Given the description of an element on the screen output the (x, y) to click on. 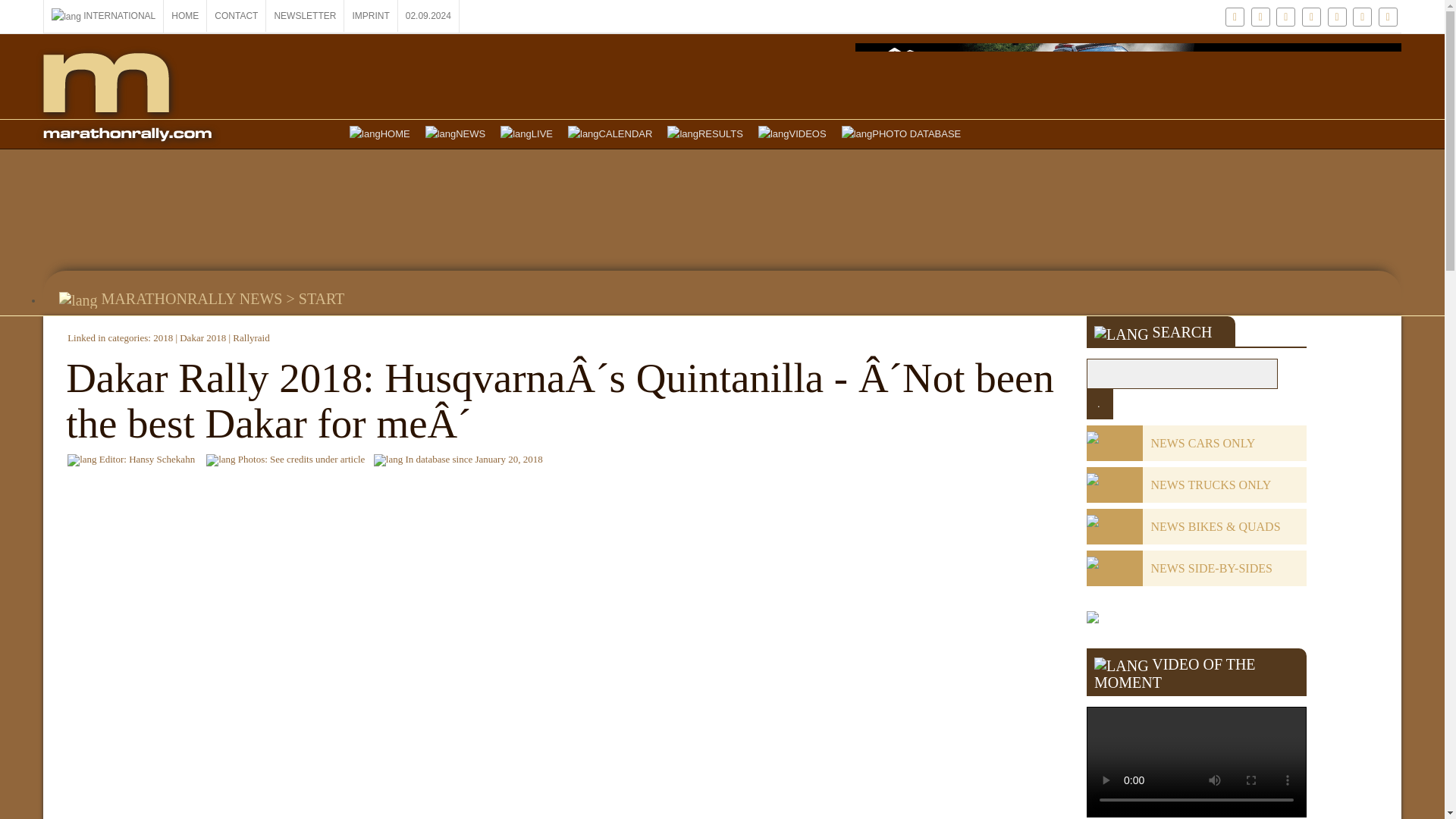
HOME (379, 134)
NEWS (455, 134)
02.09.2024 (427, 15)
HOME (184, 15)
LIVE (526, 134)
NEWSLETTER (304, 15)
IMPRINT (370, 15)
CONTACT (236, 15)
CALENDAR (609, 134)
. (1098, 404)
